Given the description of an element on the screen output the (x, y) to click on. 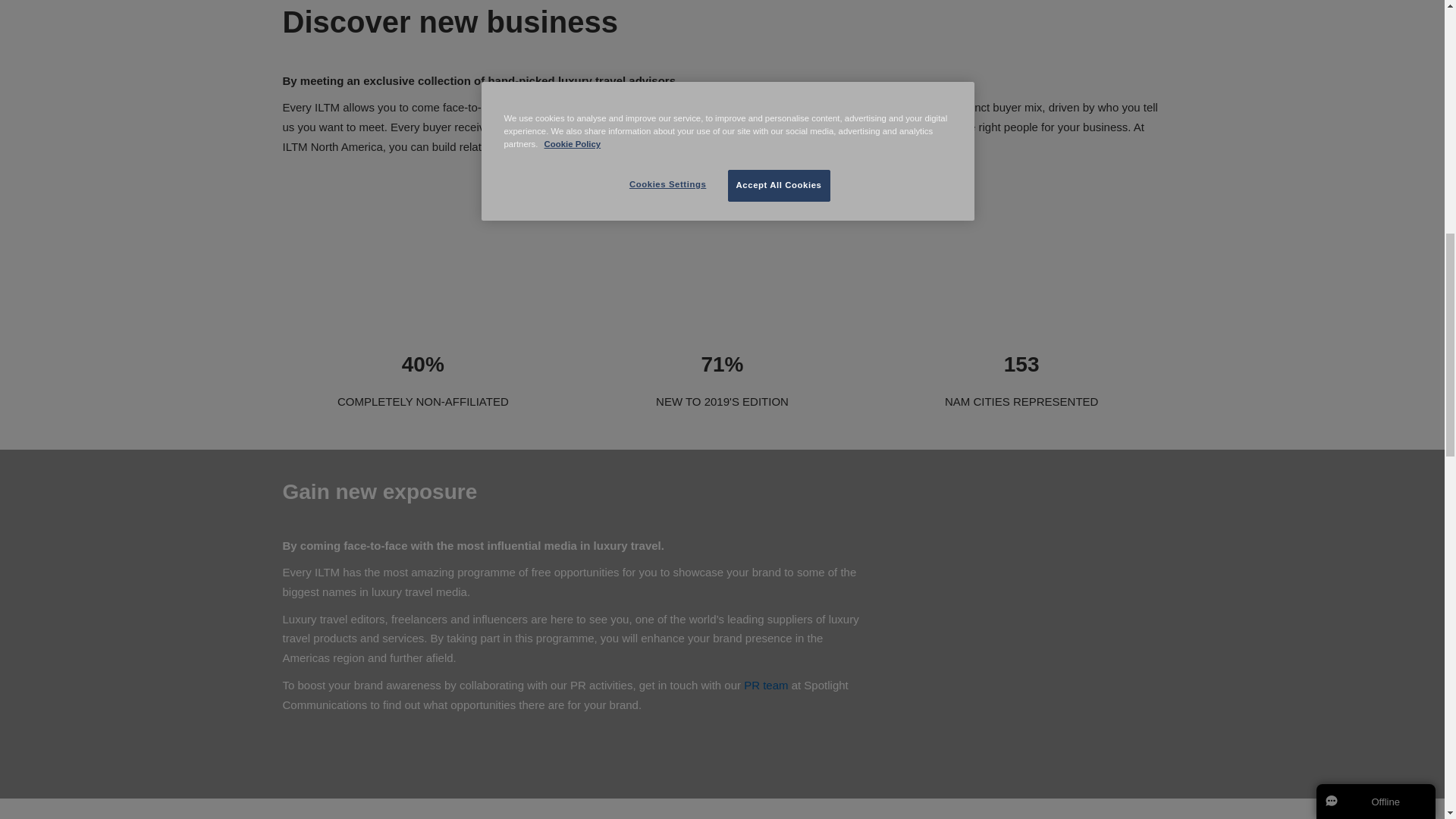
PR team (765, 684)
